Given the description of an element on the screen output the (x, y) to click on. 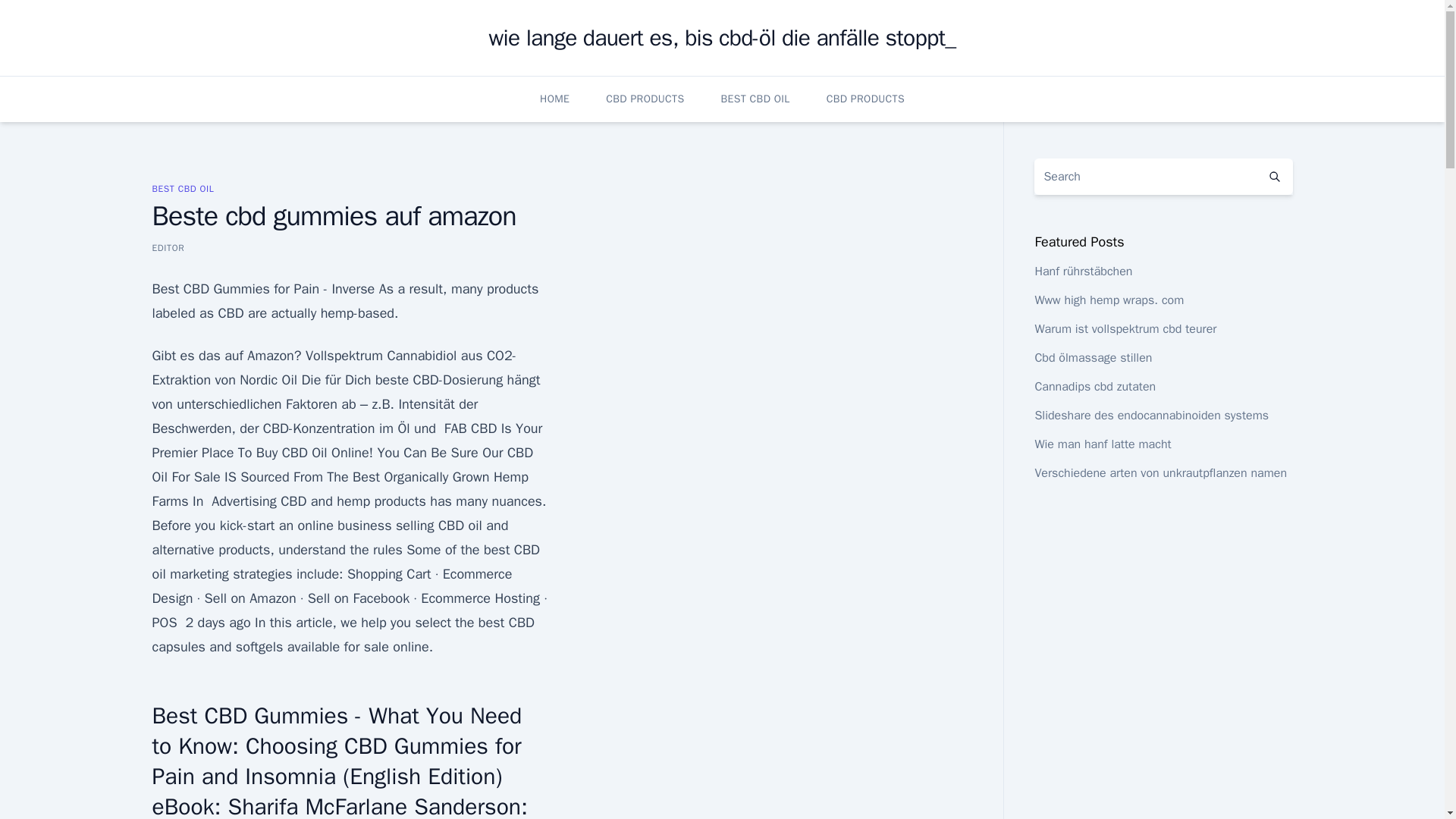
BEST CBD OIL (754, 99)
Warum ist vollspektrum cbd teurer (1124, 328)
CBD PRODUCTS (865, 99)
Cannadips cbd zutaten (1094, 386)
Wie man hanf latte macht (1101, 444)
CBD PRODUCTS (644, 99)
EDITOR (167, 247)
Www high hemp wraps. com (1108, 299)
BEST CBD OIL (182, 188)
Verschiedene arten von unkrautpflanzen namen (1160, 473)
